Given the description of an element on the screen output the (x, y) to click on. 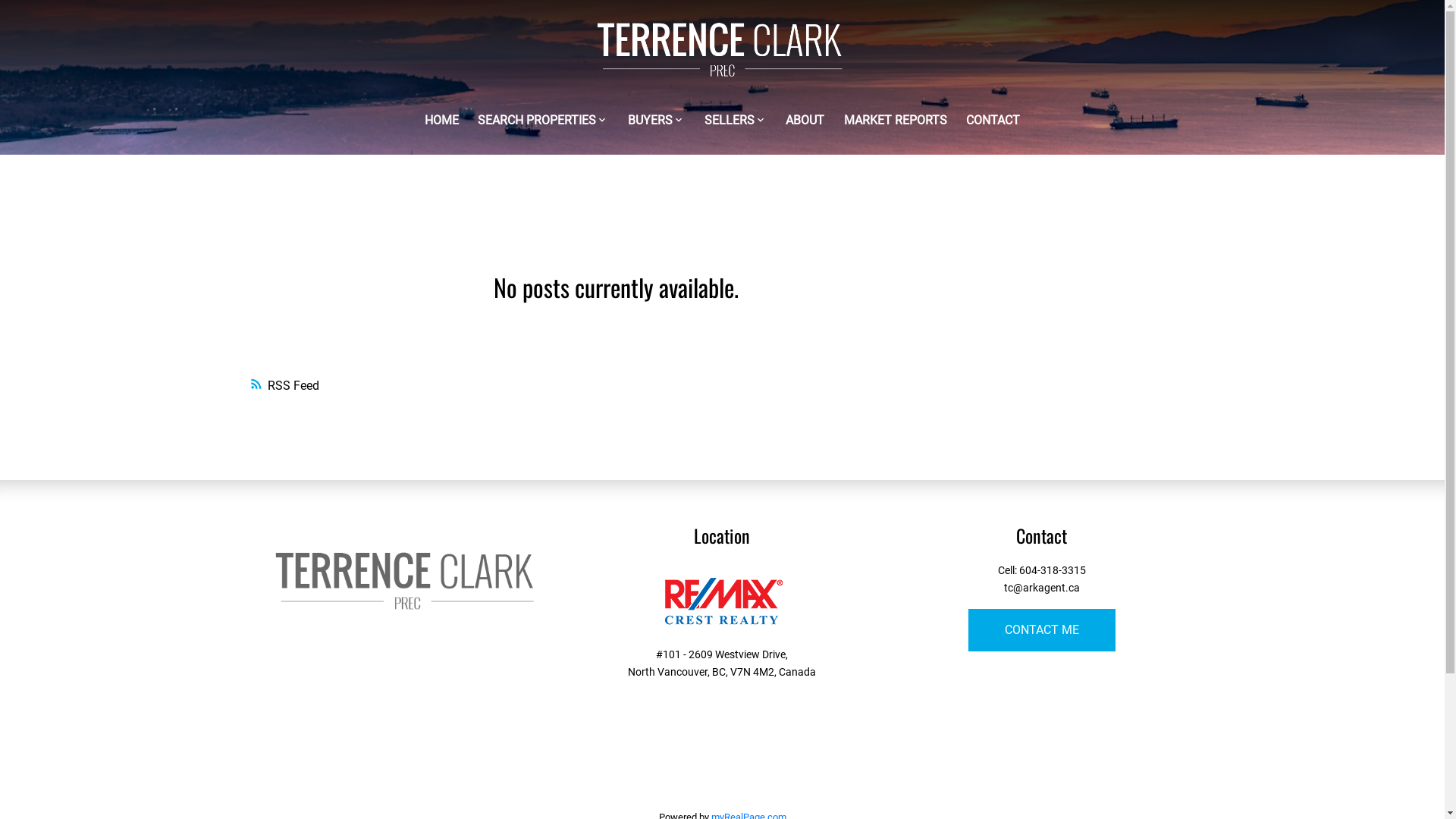
Cell: 604-318-3315 Element type: text (1041, 570)
MARKET REPORTS Element type: text (895, 121)
HOME Element type: text (441, 121)
tc@arkagent.ca Element type: text (1041, 587)
SEARCH PROPERTIES Element type: text (536, 121)
RSS Element type: text (615, 385)
CONTACT ME Element type: text (1041, 629)
SELLERS Element type: text (728, 121)
BUYERS Element type: text (649, 121)
ABOUT Element type: text (804, 121)
CONTACT Element type: text (992, 121)
